Given the description of an element on the screen output the (x, y) to click on. 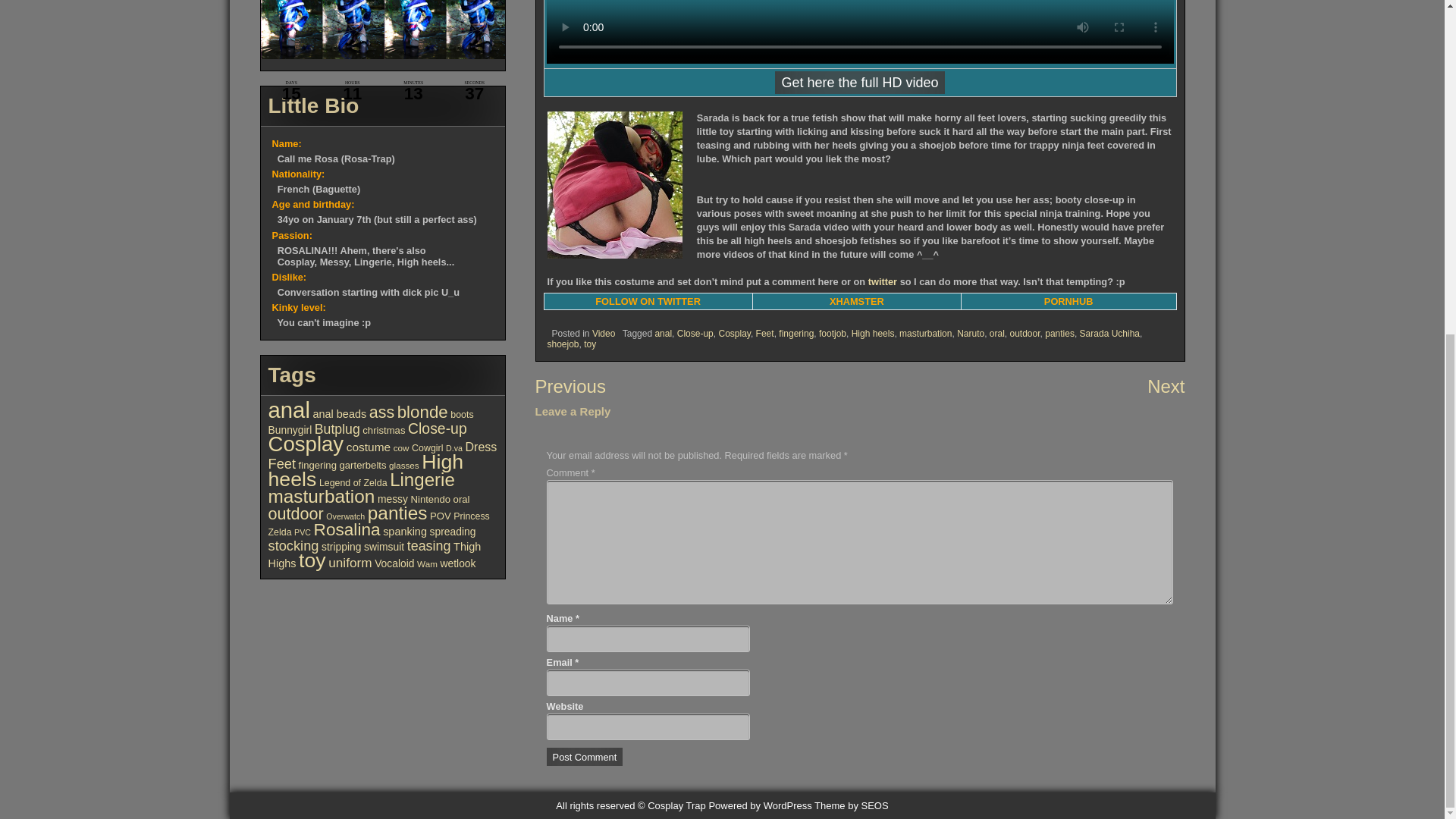
High heels (873, 330)
outdoor (1025, 333)
Cosplay (733, 340)
anal (662, 337)
Close-up (695, 339)
Feet (764, 339)
footjob (831, 331)
panties (1059, 333)
masturbation (925, 329)
PORNHUB (1068, 293)
